Given the description of an element on the screen output the (x, y) to click on. 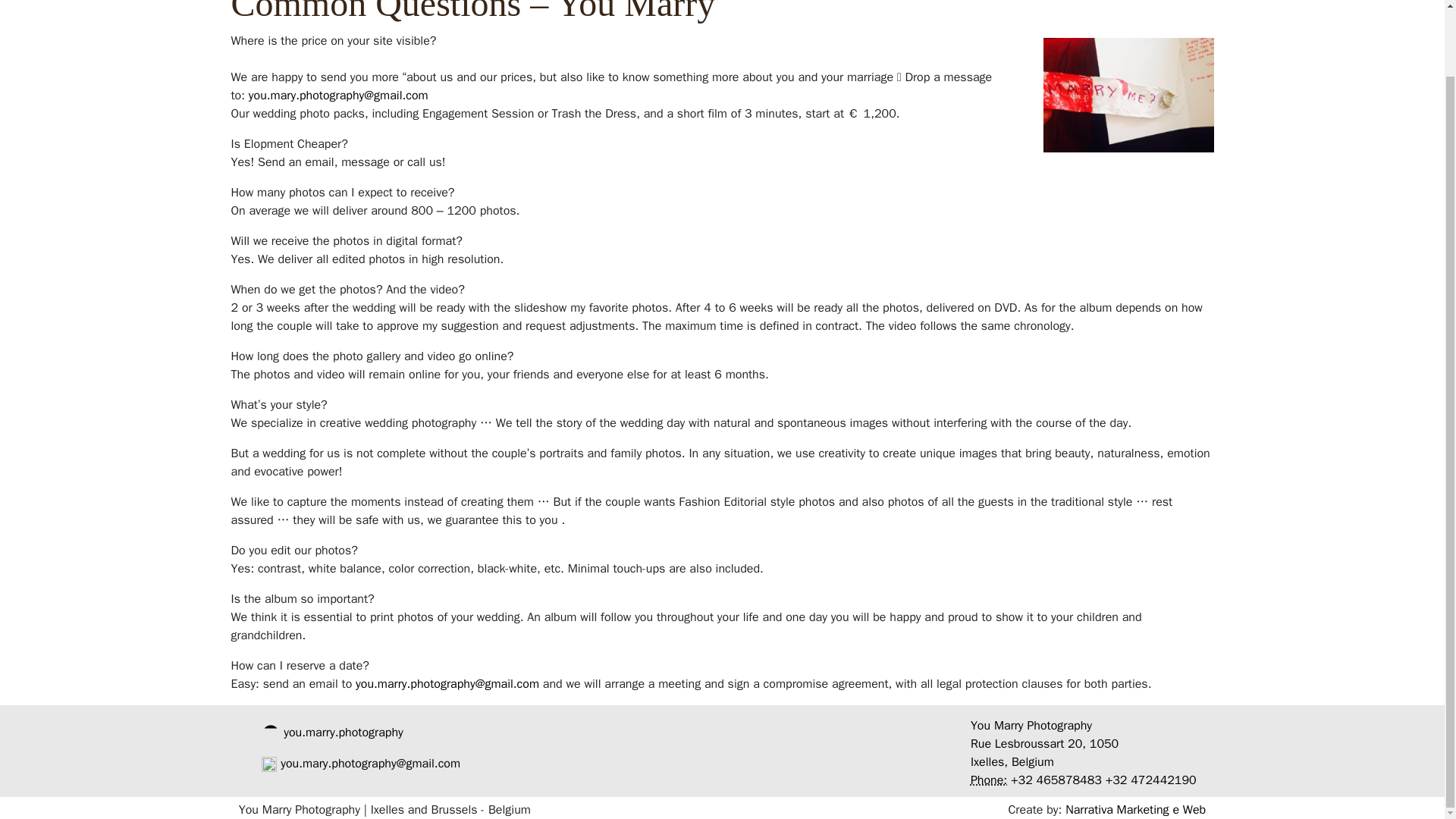
Phone (989, 780)
you.marry.photography (343, 732)
Narrativa Marketing e Web (1135, 809)
